Given the description of an element on the screen output the (x, y) to click on. 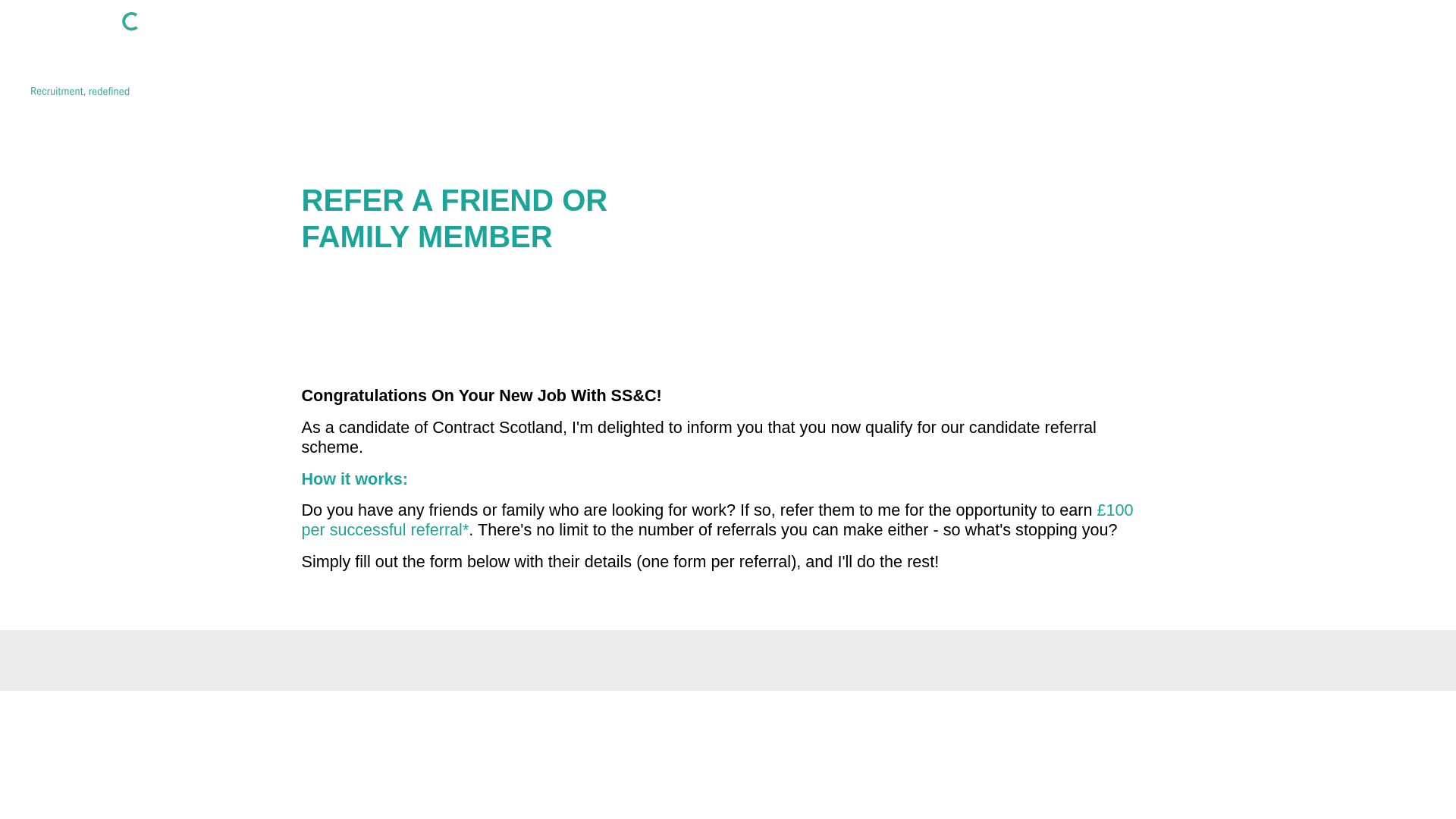
FOR EMPLOYERS (1354, 61)
SEARCH JOBS (238, 56)
UPLOAD CV (540, 56)
JOB ALERTS (394, 56)
